Given the description of an element on the screen output the (x, y) to click on. 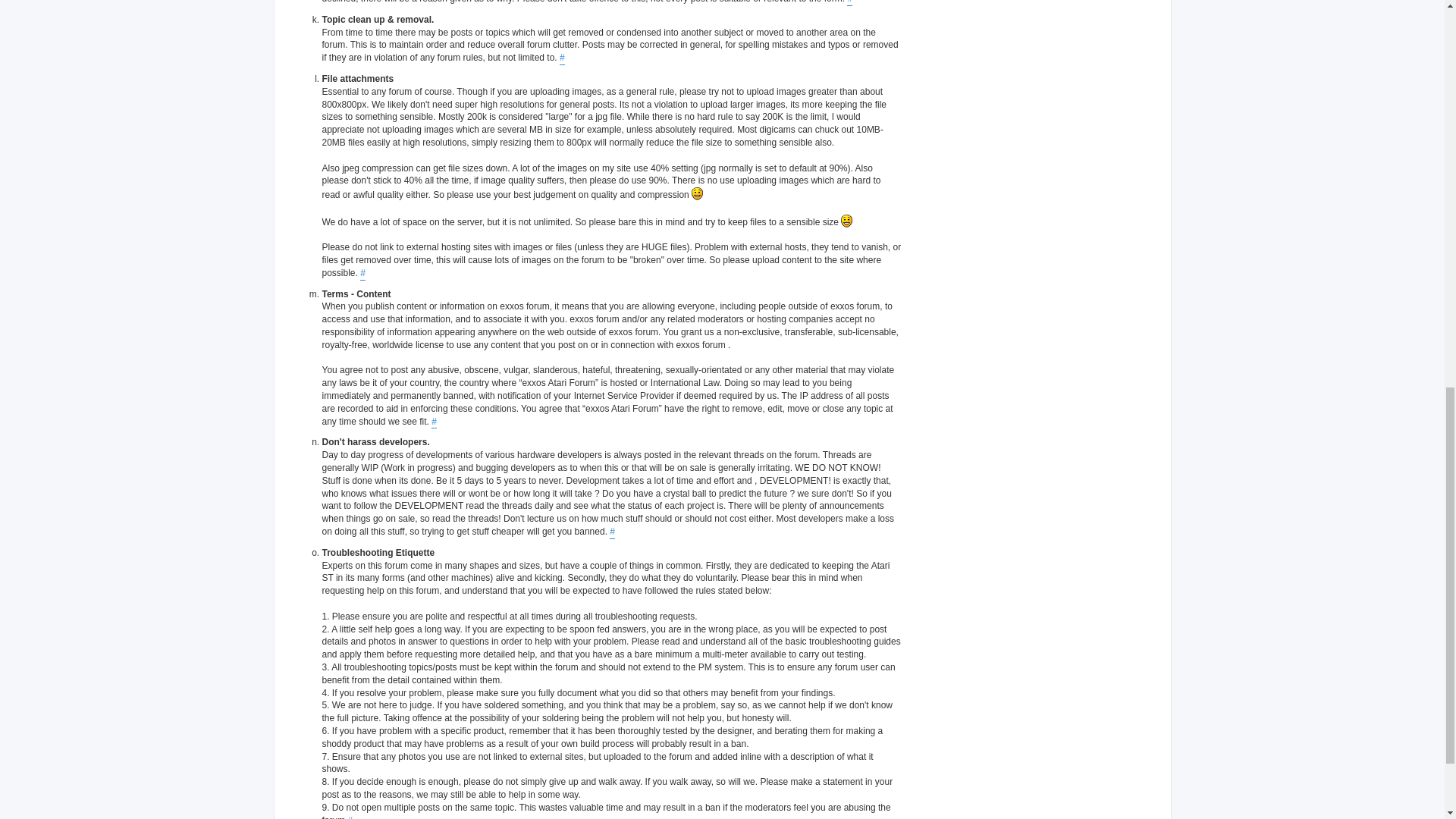
Smile (846, 220)
Smile (697, 193)
